Given the description of an element on the screen output the (x, y) to click on. 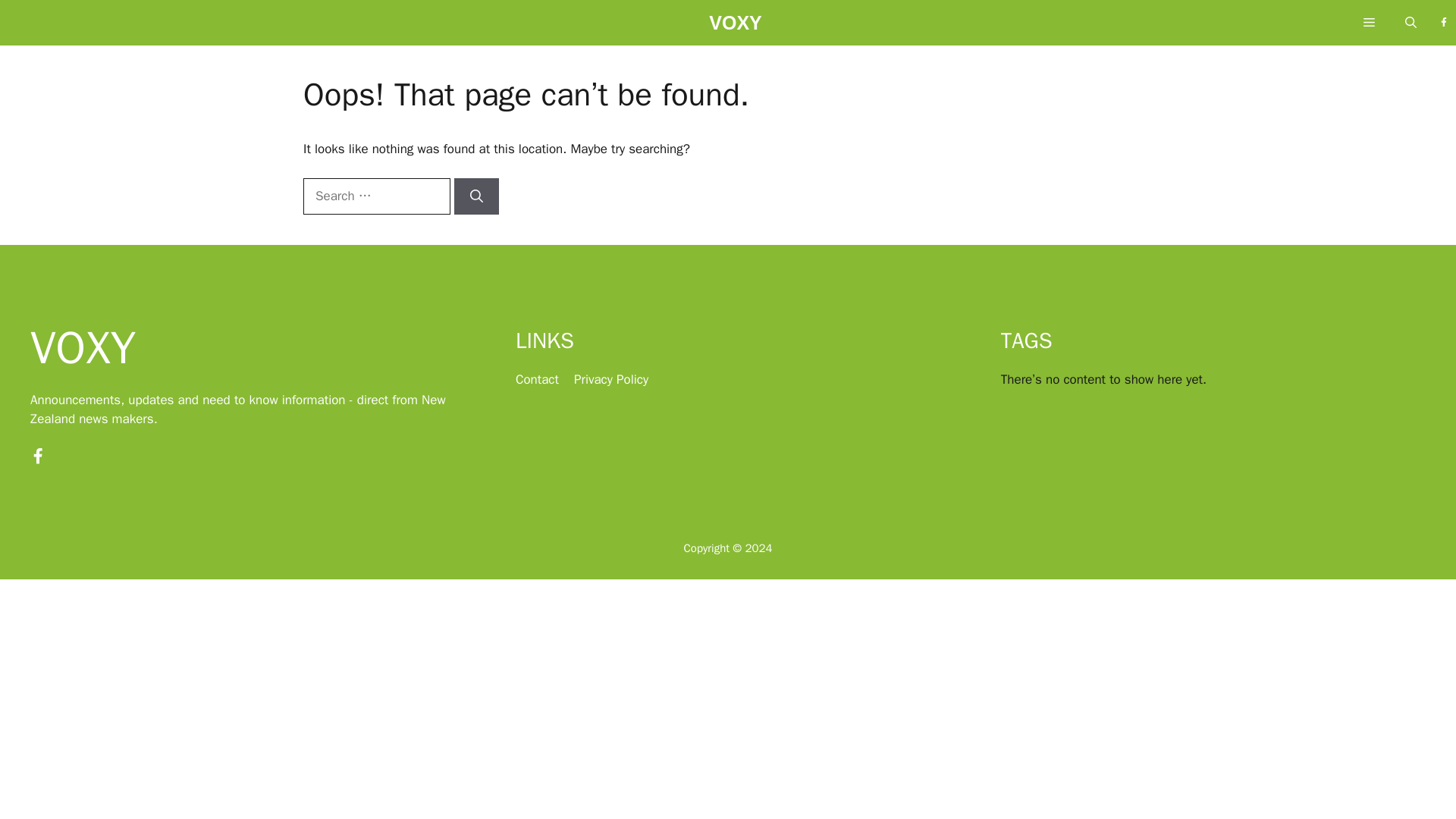
VOXY (735, 26)
Privacy Policy (610, 379)
Contact (537, 379)
Search for: (375, 196)
